Given the description of an element on the screen output the (x, y) to click on. 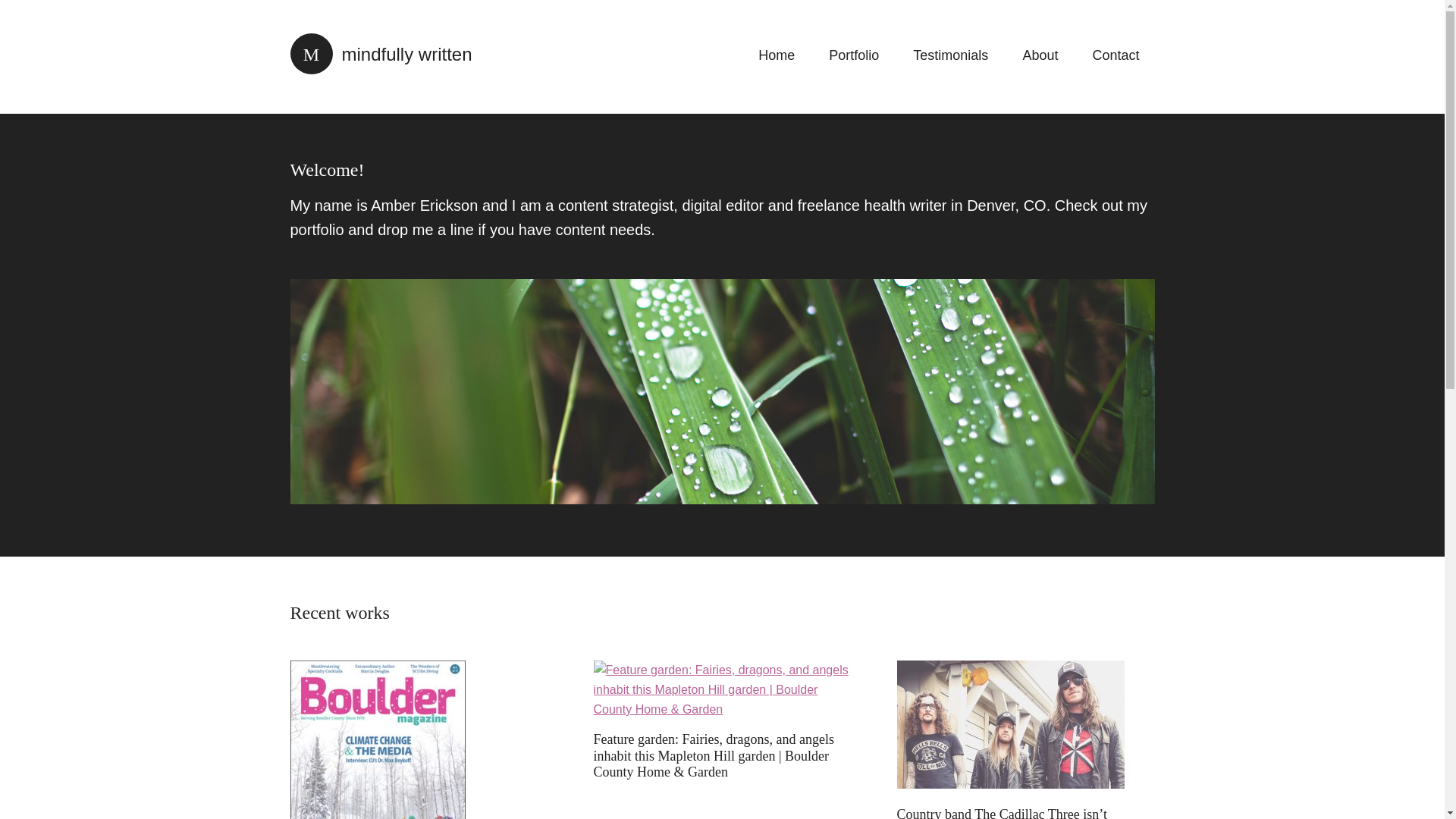
Home (775, 55)
About (1040, 55)
Testimonials (950, 55)
Contact (1115, 55)
mindfully written (380, 54)
Portfolio (853, 55)
